Given the description of an element on the screen output the (x, y) to click on. 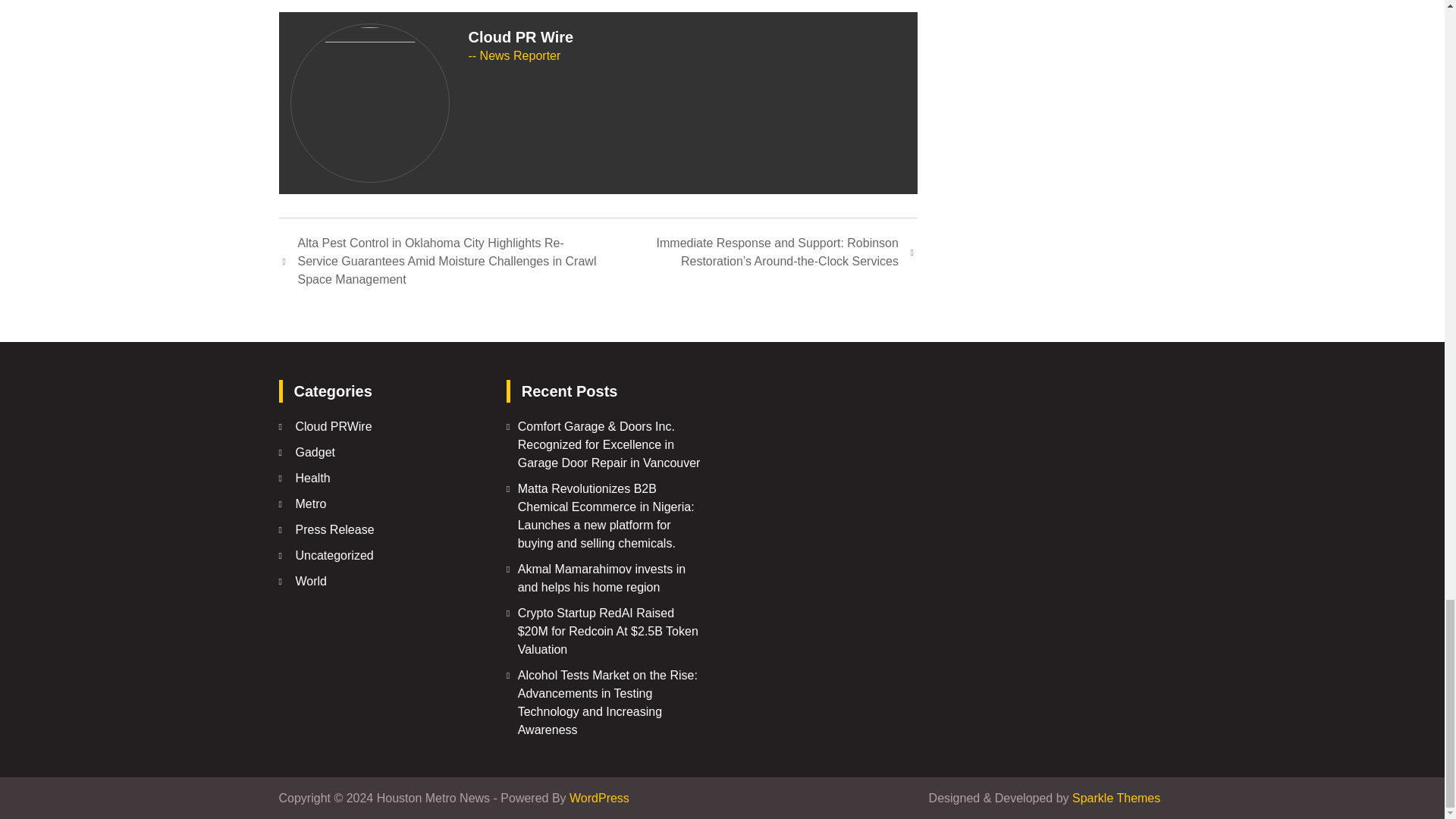
Cloud PR Wire (520, 36)
Posts by Cloud PR Wire (520, 36)
